Given the description of an element on the screen output the (x, y) to click on. 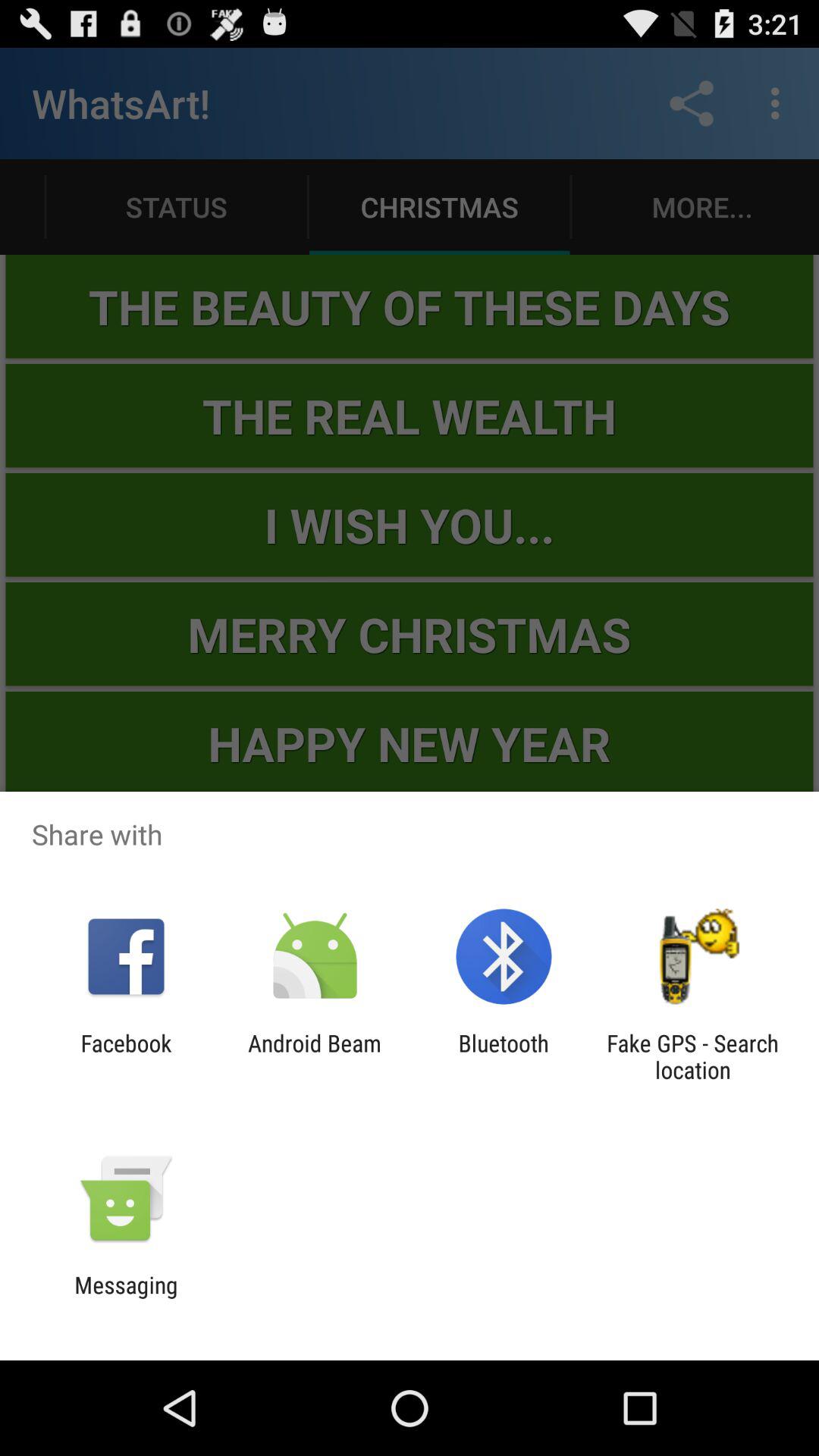
swipe until the facebook icon (125, 1056)
